Given the description of an element on the screen output the (x, y) to click on. 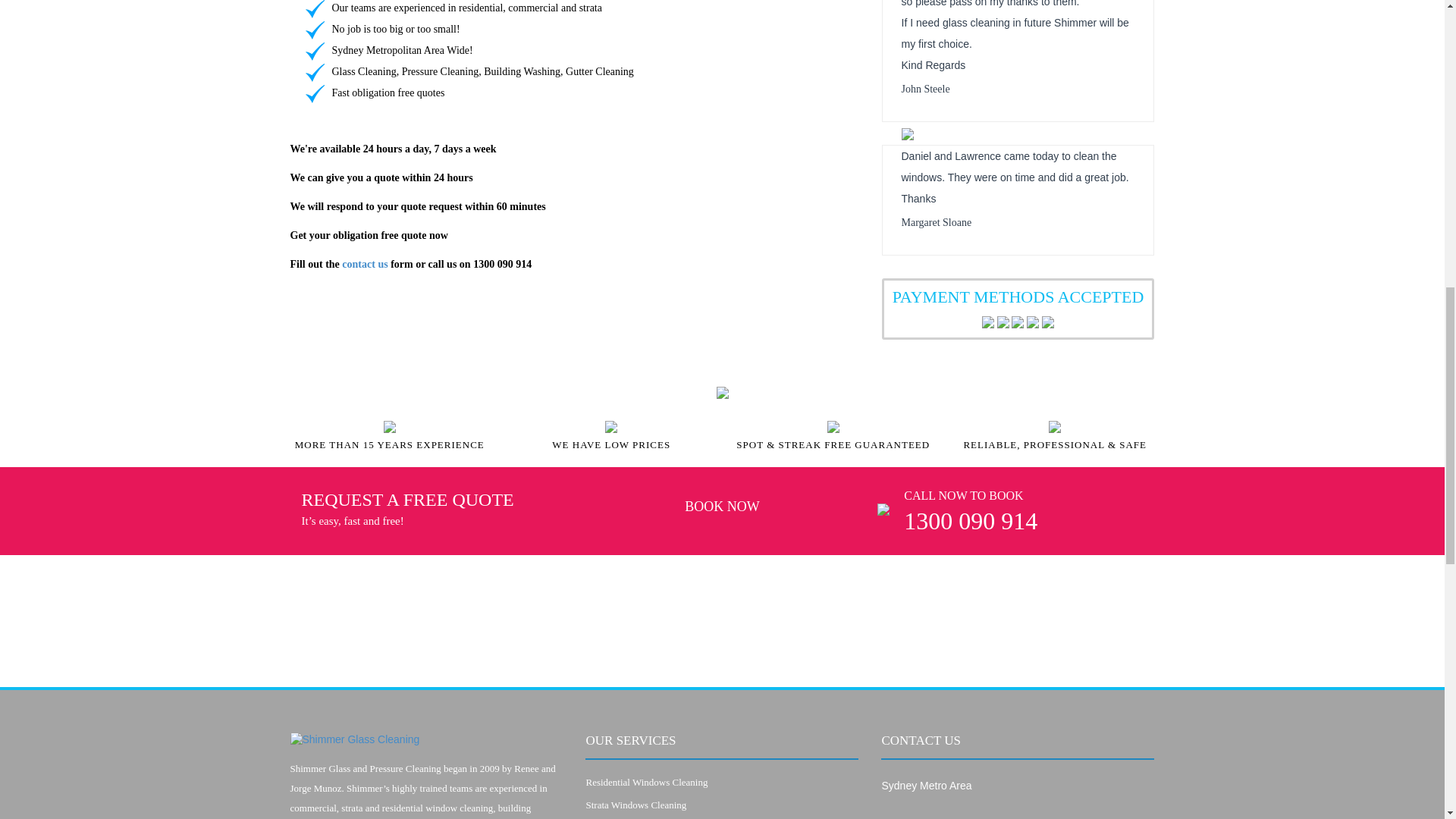
contact us (364, 264)
Residential Windows Cleaning (646, 781)
BOOK NOW (721, 508)
Strata Windows Cleaning (635, 804)
